Given the description of an element on the screen output the (x, y) to click on. 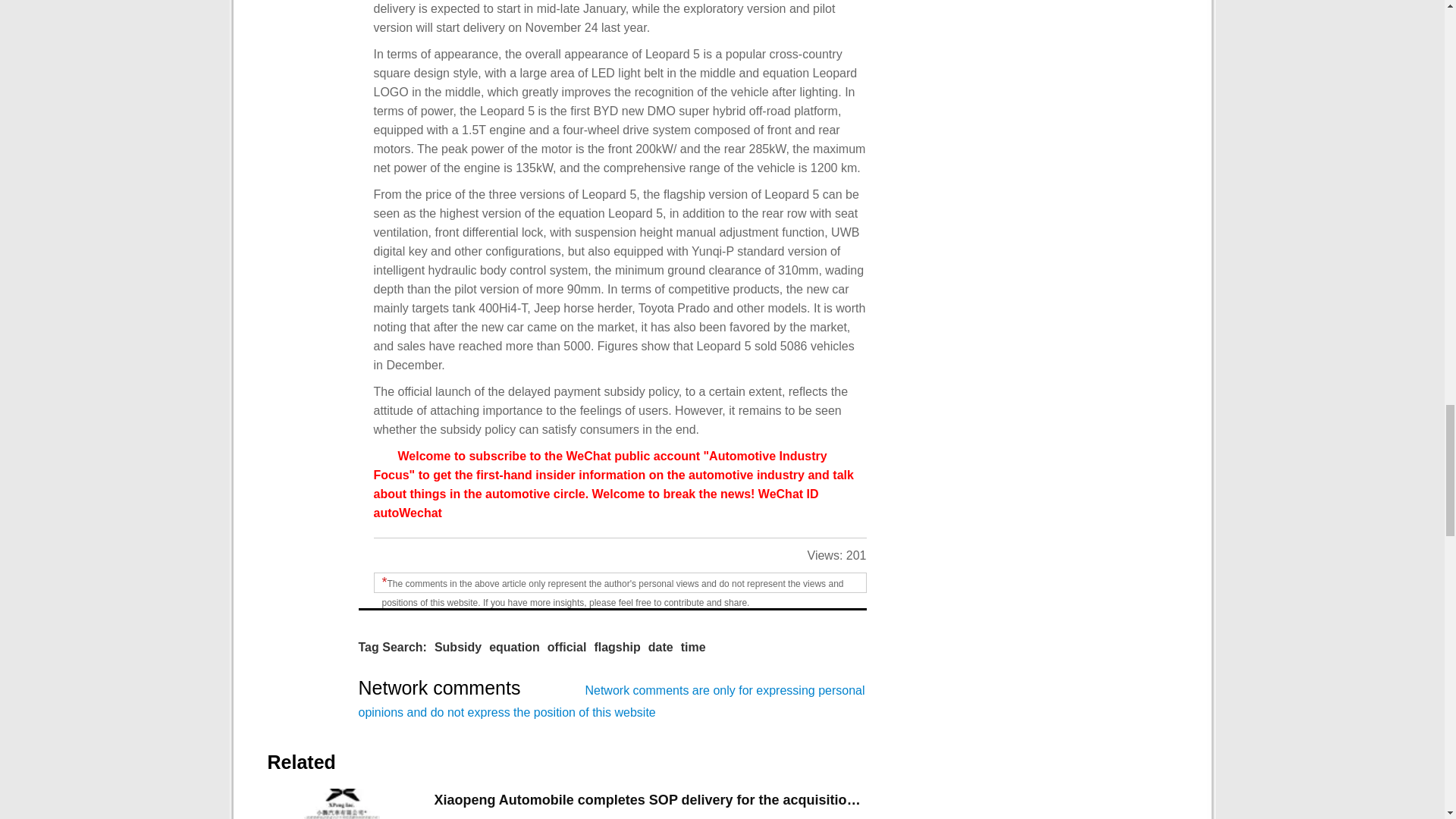
official (566, 647)
date (659, 647)
flagship (617, 647)
equation (514, 647)
Tag Search: (392, 647)
Subsidy (457, 647)
